Given the description of an element on the screen output the (x, y) to click on. 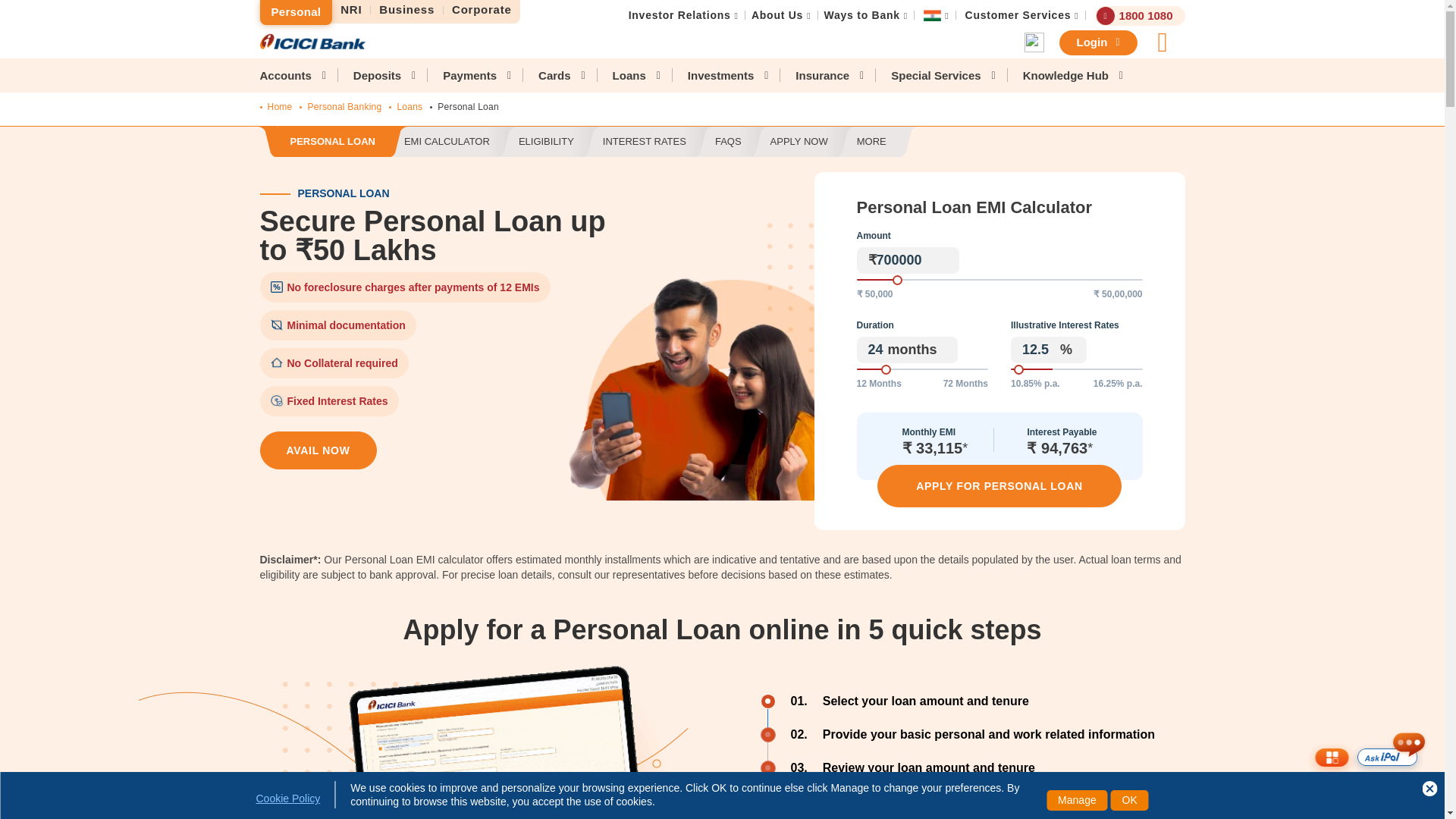
Ways to Bank (861, 15)
24 (922, 369)
Investor Relations (679, 15)
Customer Services (1018, 15)
Corporate (481, 9)
Business (407, 9)
NRI (351, 9)
Personal (295, 12)
